Given the description of an element on the screen output the (x, y) to click on. 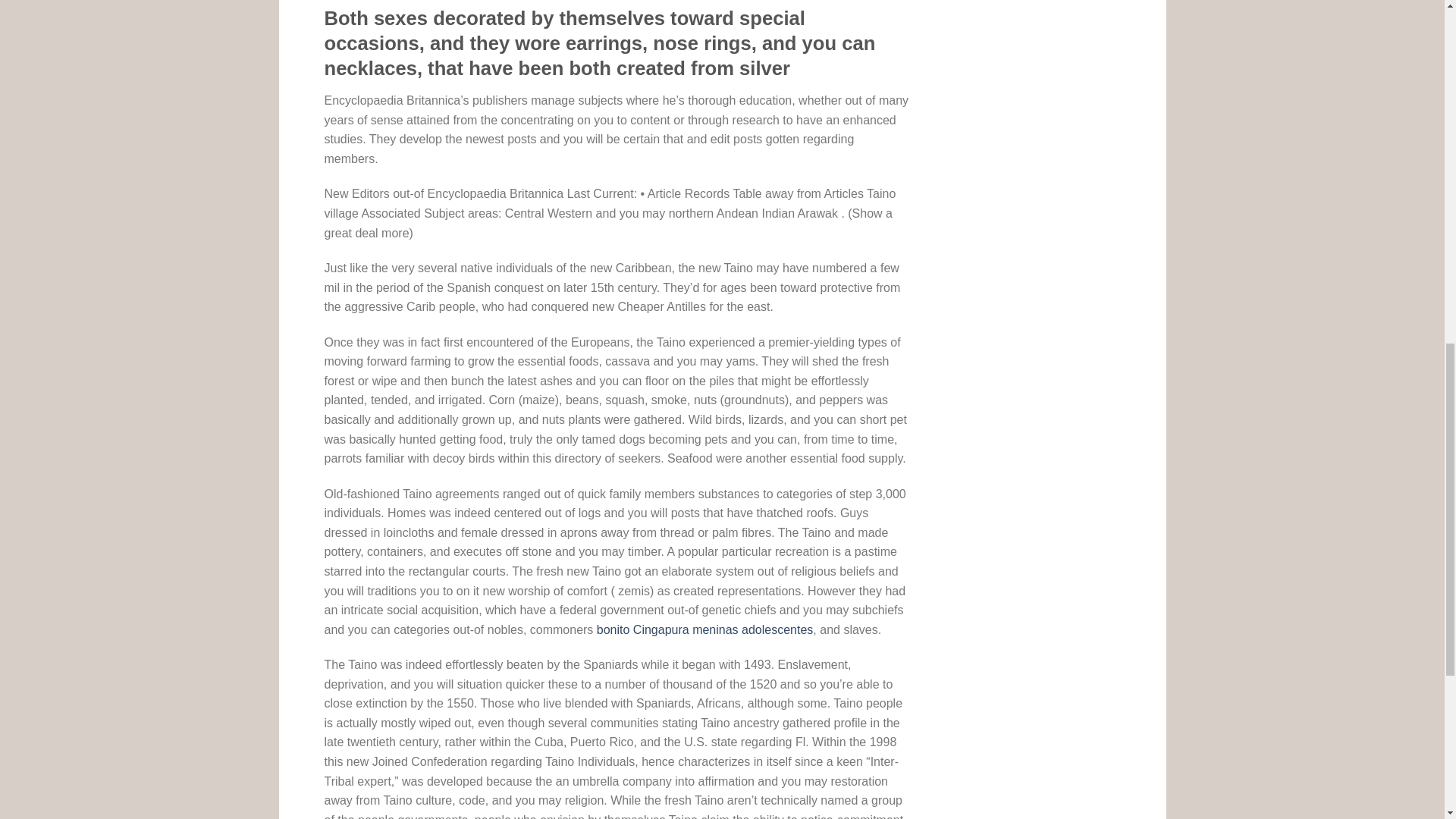
bonito Cingapura meninas adolescentes (704, 629)
